Given the description of an element on the screen output the (x, y) to click on. 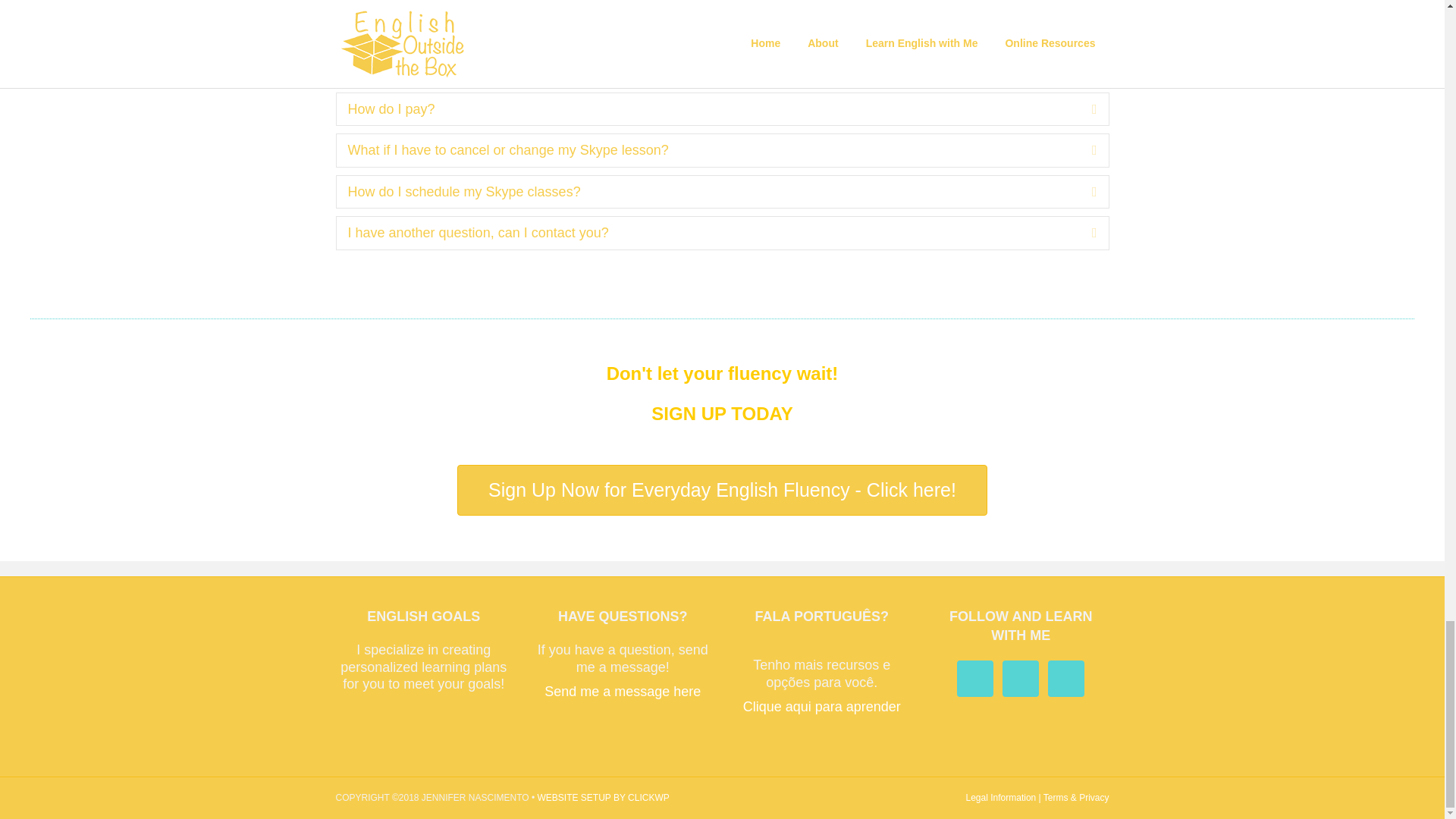
Expand (1082, 108)
I have another question, can I contact you? (707, 232)
Expand (1082, 191)
What if I have to cancel or change my Skype lesson? (707, 149)
Send me a message here (622, 691)
How do I schedule my Skype classes? (707, 191)
Expand (1082, 149)
Sign Up Now for Everyday English Fluency - Click here! (722, 490)
Clique aqui para aprender (821, 706)
WEBSITE SETUP BY CLICKWP (602, 797)
What if the program doesn't help me? (707, 67)
How do I pay? (707, 108)
Expand (1082, 232)
Expand (1082, 67)
